Given the description of an element on the screen output the (x, y) to click on. 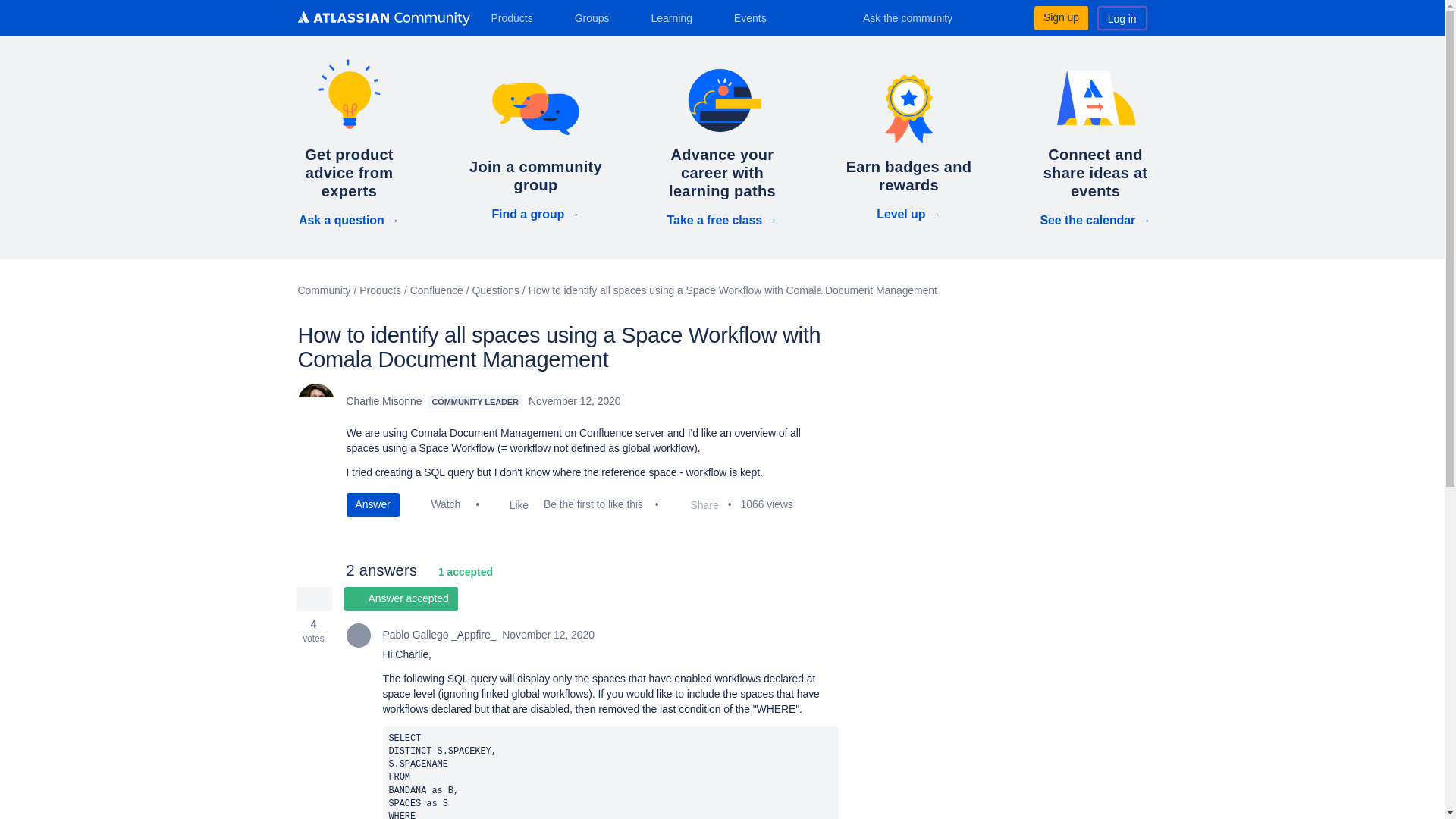
Ask the community  (917, 17)
Learning (676, 17)
Sign up (1060, 17)
Charlie Misonne (315, 402)
Log in (1122, 17)
Products (517, 17)
Events (756, 17)
Atlassian Community logo (382, 19)
Atlassian Community logo (382, 18)
Groups (598, 17)
